Given the description of an element on the screen output the (x, y) to click on. 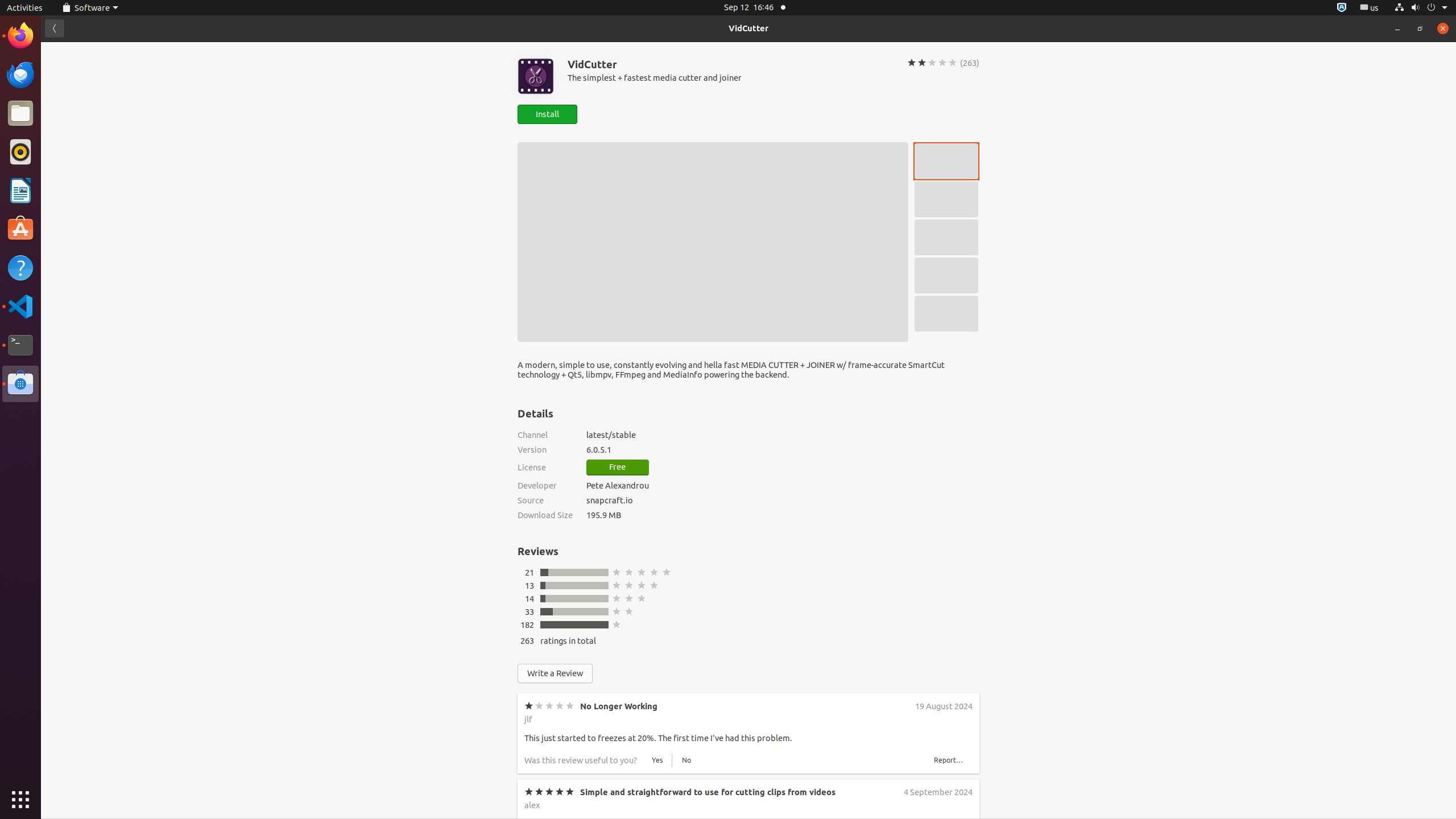
Software Element type: push-button (20, 383)
195.9 MB Element type: label (782, 514)
VidCutter Element type: label (748, 27)
snapcraft.io Element type: label (782, 500)
Trash Element type: label (75, 108)
